Given the description of an element on the screen output the (x, y) to click on. 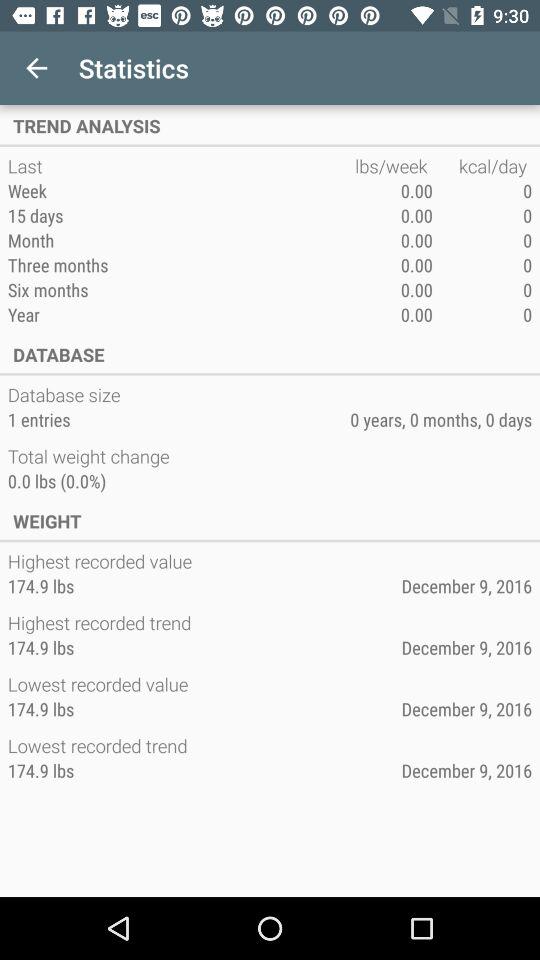
turn on icon next to the 0.00 item (181, 314)
